Given the description of an element on the screen output the (x, y) to click on. 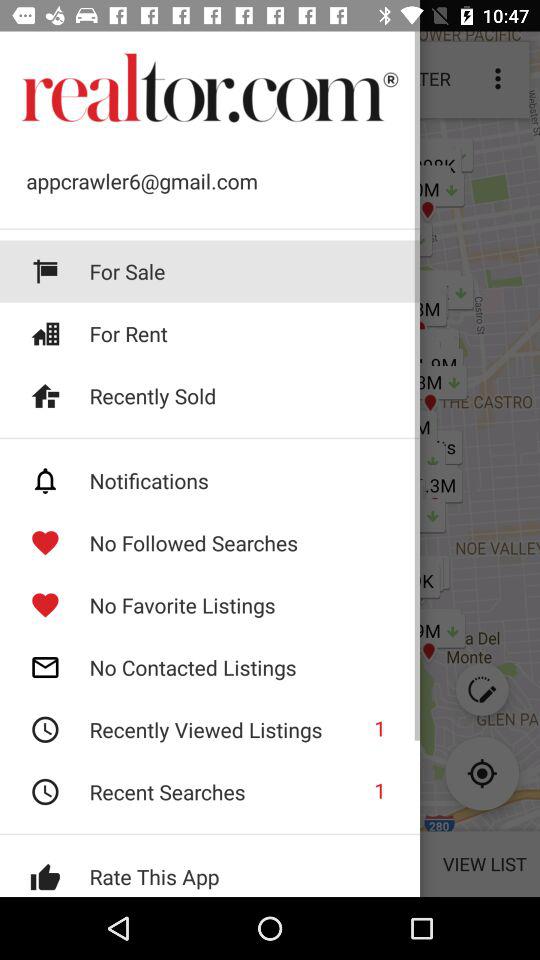
no tagging (210, 480)
